Given the description of an element on the screen output the (x, y) to click on. 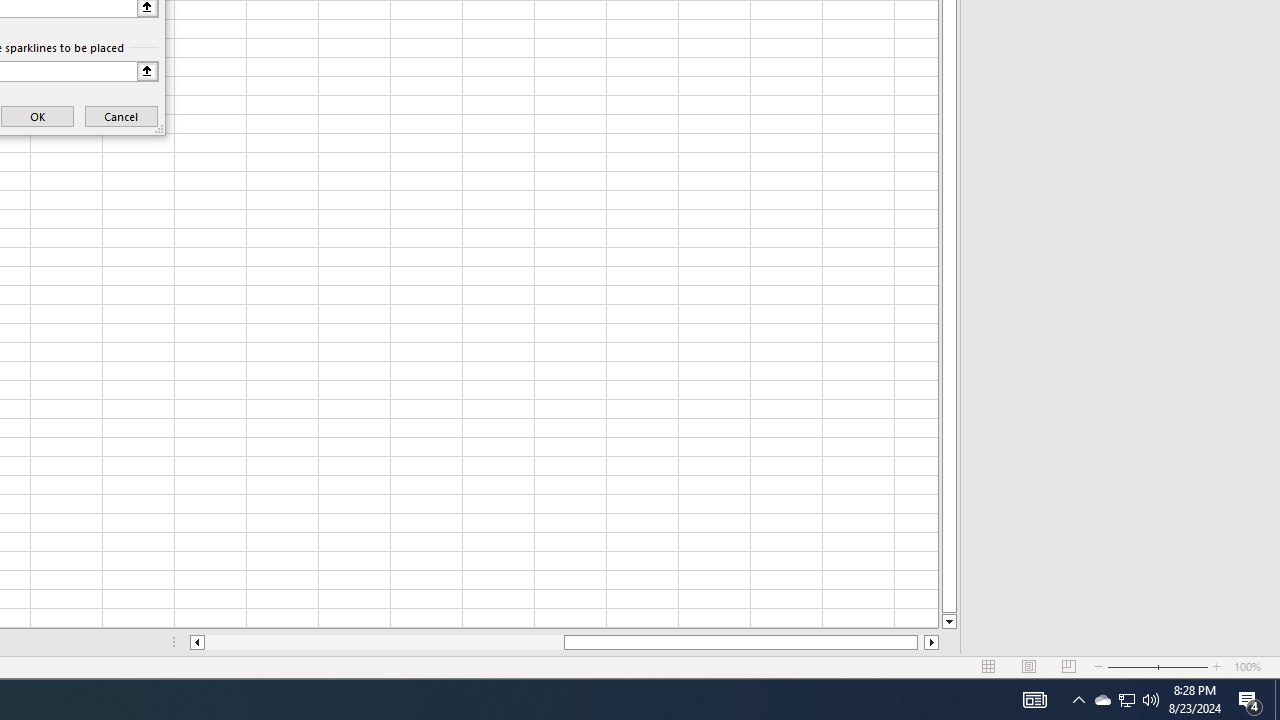
Page left (384, 642)
